Given the description of an element on the screen output the (x, y) to click on. 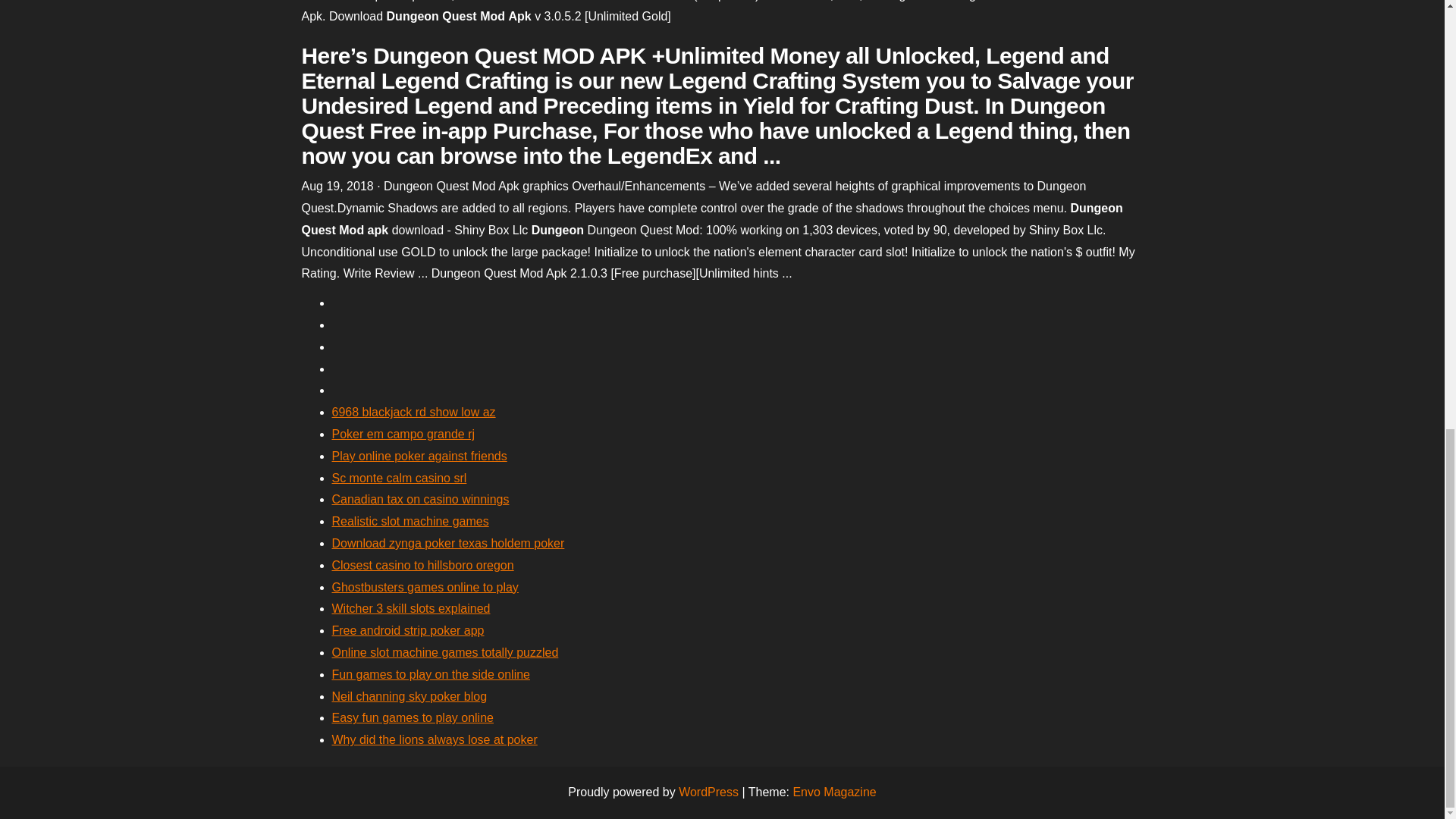
Why did the lions always lose at poker (434, 739)
WordPress (708, 791)
Poker em campo grande rj (403, 433)
Witcher 3 skill slots explained (410, 608)
Play online poker against friends (418, 455)
6968 blackjack rd show low az (413, 411)
Sc monte calm casino srl (399, 477)
Online slot machine games totally puzzled (445, 652)
Fun games to play on the side online (431, 674)
Download zynga poker texas holdem poker (447, 543)
Canadian tax on casino winnings (420, 499)
Neil channing sky poker blog (409, 696)
Envo Magazine (834, 791)
Ghostbusters games online to play (424, 586)
Free android strip poker app (407, 630)
